Given the description of an element on the screen output the (x, y) to click on. 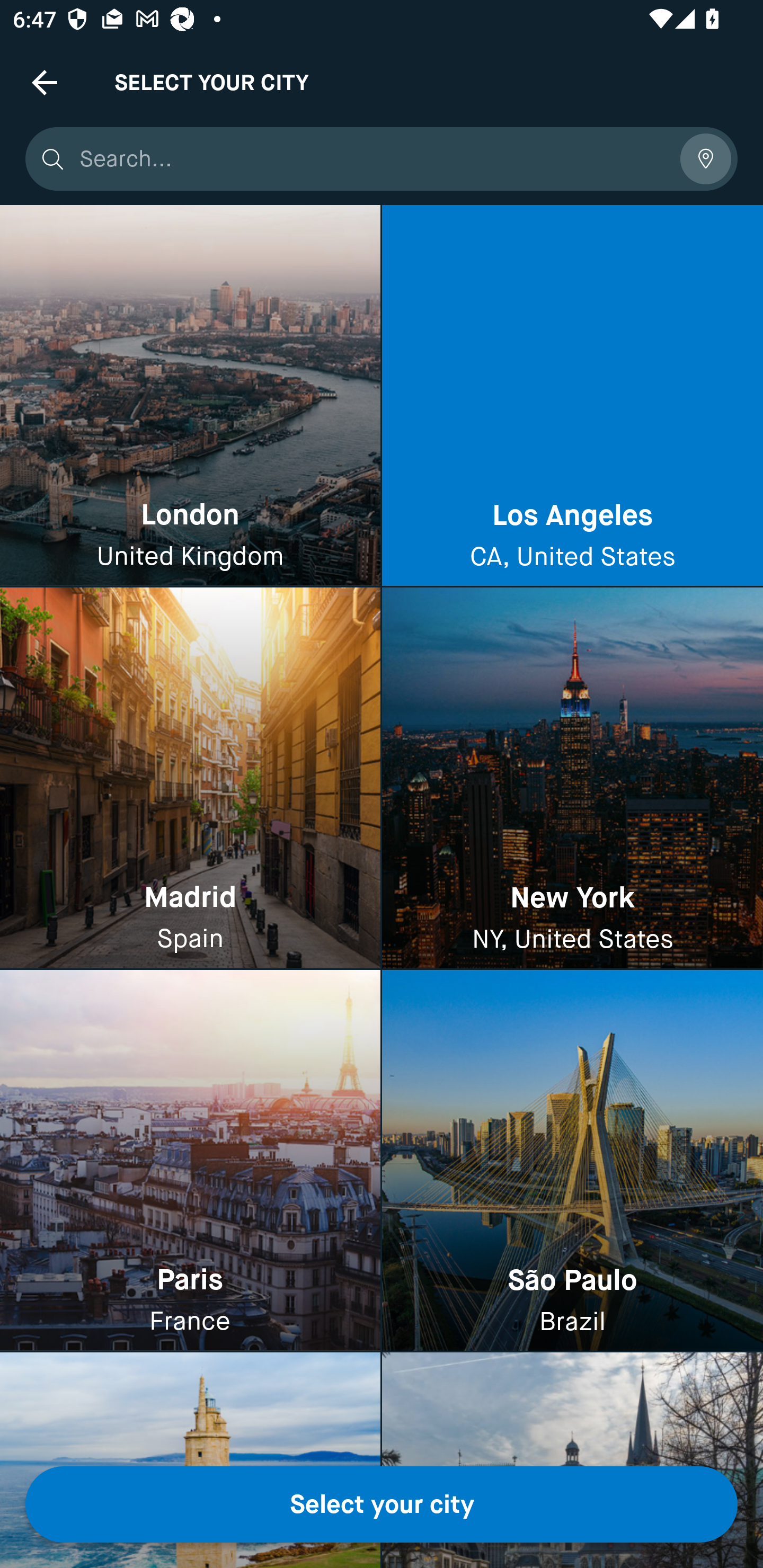
Navigate up (44, 82)
Search... (373, 159)
London United Kingdom (190, 395)
Los Angeles CA, United States (572, 395)
Madrid Spain (190, 778)
New York NY, United States (572, 778)
Paris France (190, 1160)
São Paulo Brazil (572, 1160)
Select your city (381, 1504)
